Given the description of an element on the screen output the (x, y) to click on. 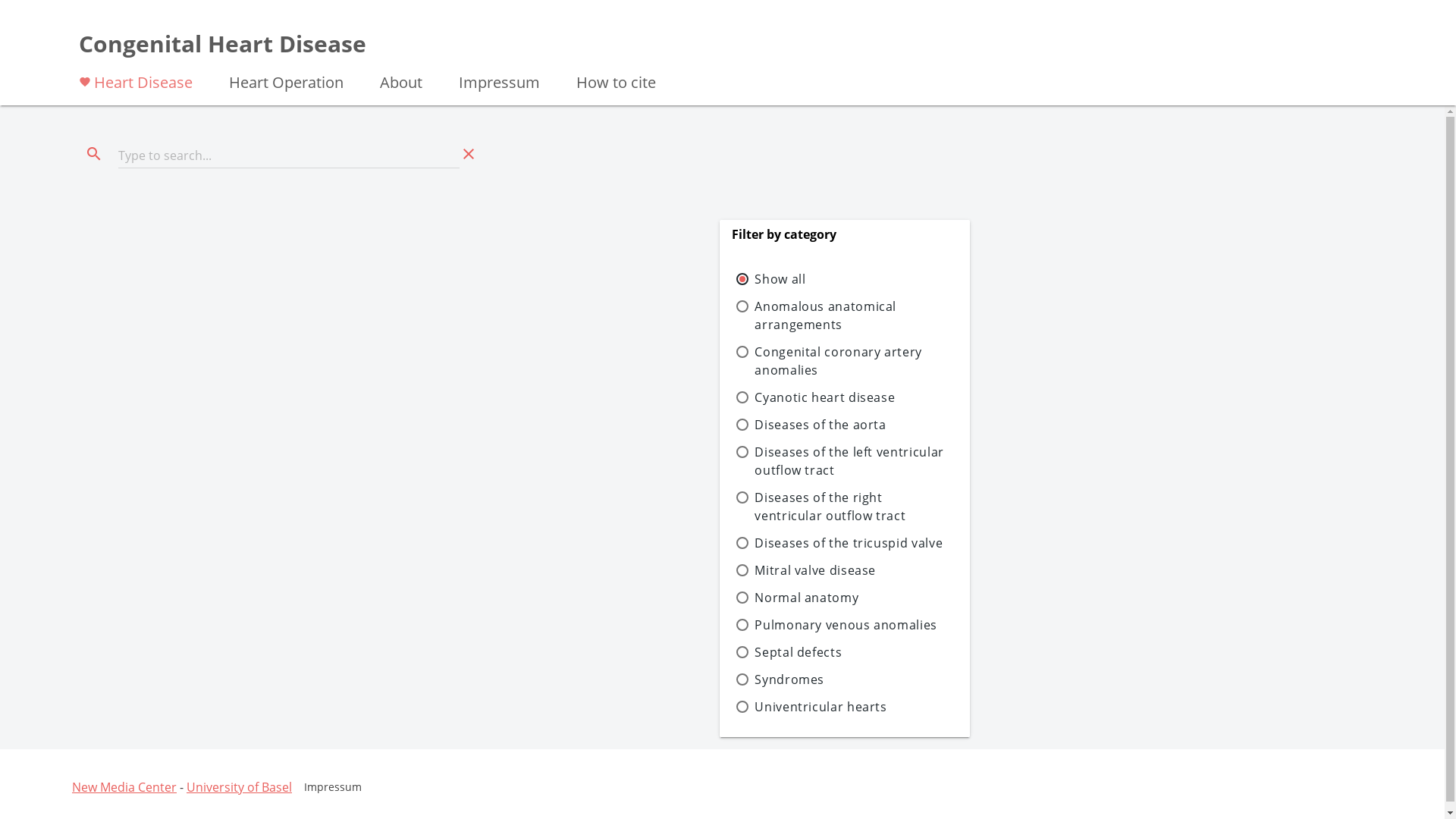
About Element type: text (400, 81)
How to cite Element type: text (616, 81)
New Media Center Element type: text (124, 786)
Heart Disease Element type: text (135, 81)
University of Basel Element type: text (238, 786)
Impressum Element type: text (332, 786)
Heart Operation Element type: text (285, 81)
Impressum Element type: text (499, 81)
